Given the description of an element on the screen output the (x, y) to click on. 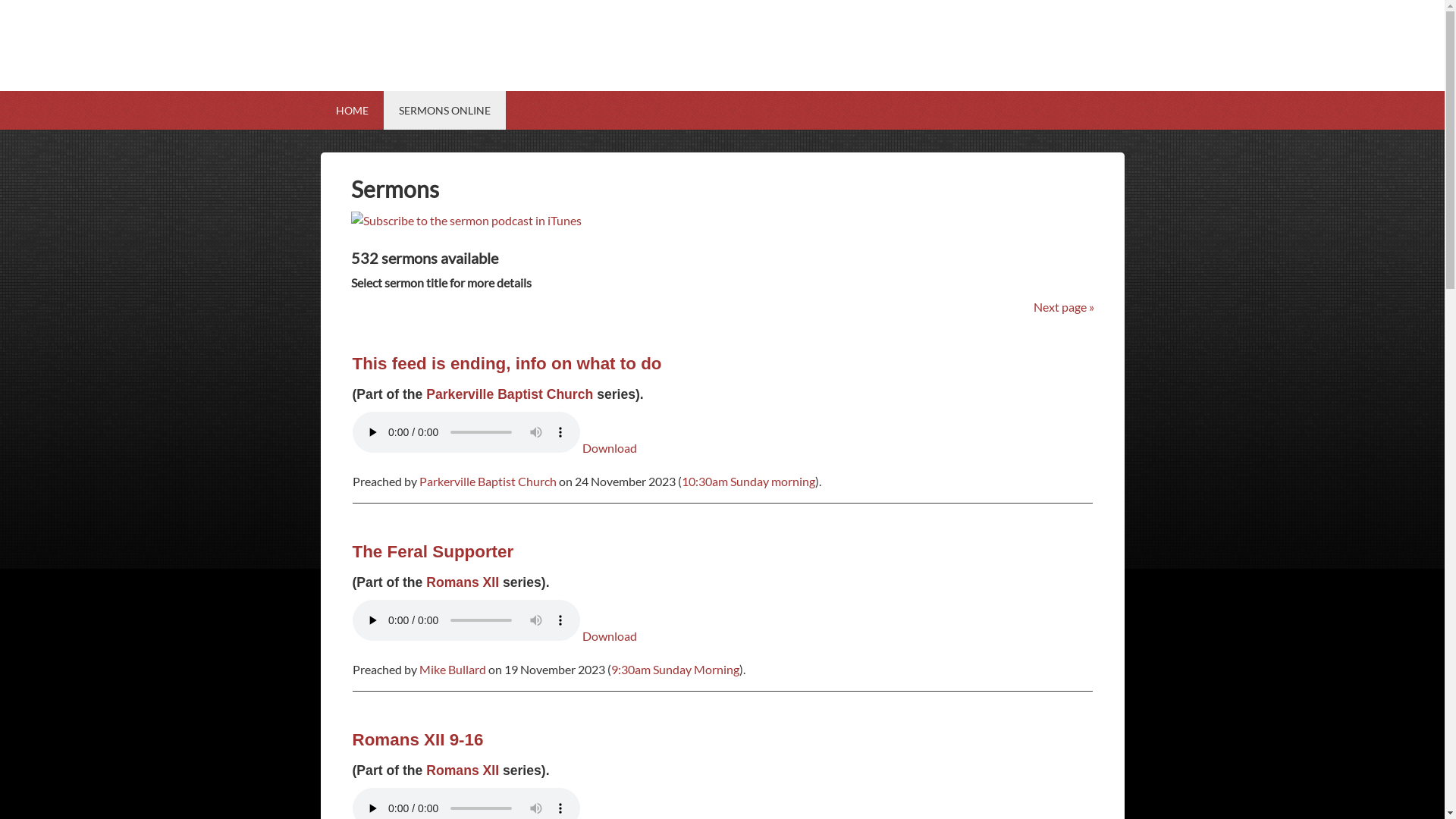
Romans XII Element type: text (462, 581)
SERMONS ONLINE Element type: text (444, 110)
Mike Bullard Element type: text (451, 669)
Parkerville Baptist Church Element type: text (509, 393)
Romans XII Element type: text (462, 770)
10:30am Sunday morning Element type: text (747, 480)
9:30am Sunday Morning Element type: text (675, 669)
This feed is ending, info on what to do Element type: text (506, 363)
PARKERVILLE BAPTIST CHURCH SERMONS Element type: text (721, 71)
The Feral Supporter Element type: text (432, 551)
HOME Element type: text (351, 110)
Download Element type: text (609, 447)
Download Element type: text (609, 635)
Parkerville Baptist Church Element type: text (486, 480)
Romans XII 9-16 Element type: text (417, 739)
